Given the description of an element on the screen output the (x, y) to click on. 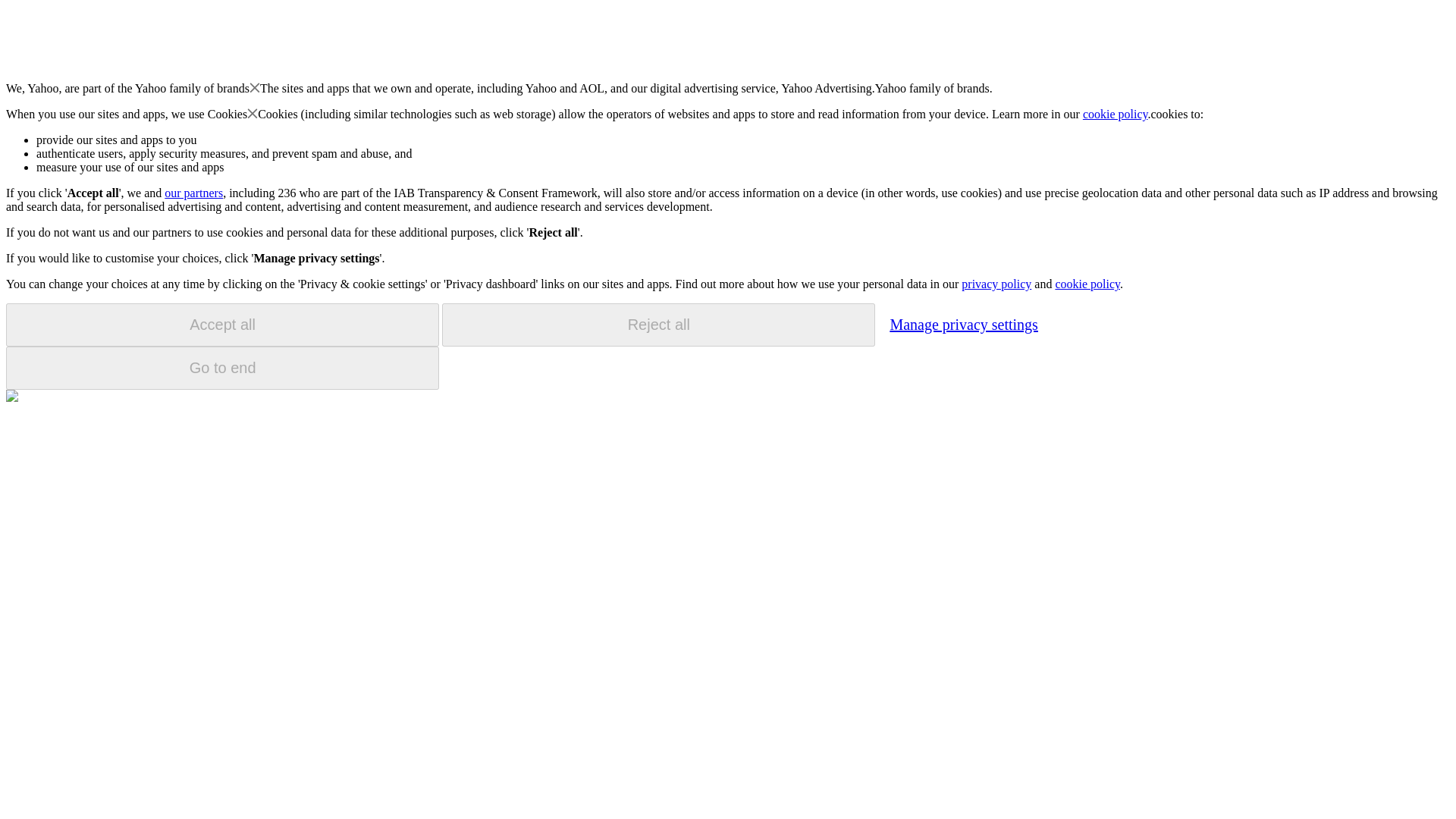
Accept all (222, 324)
privacy policy (995, 283)
cookie policy (1115, 113)
Manage privacy settings (963, 323)
Go to end (222, 367)
our partners (193, 192)
Reject all (658, 324)
cookie policy (1086, 283)
